Given the description of an element on the screen output the (x, y) to click on. 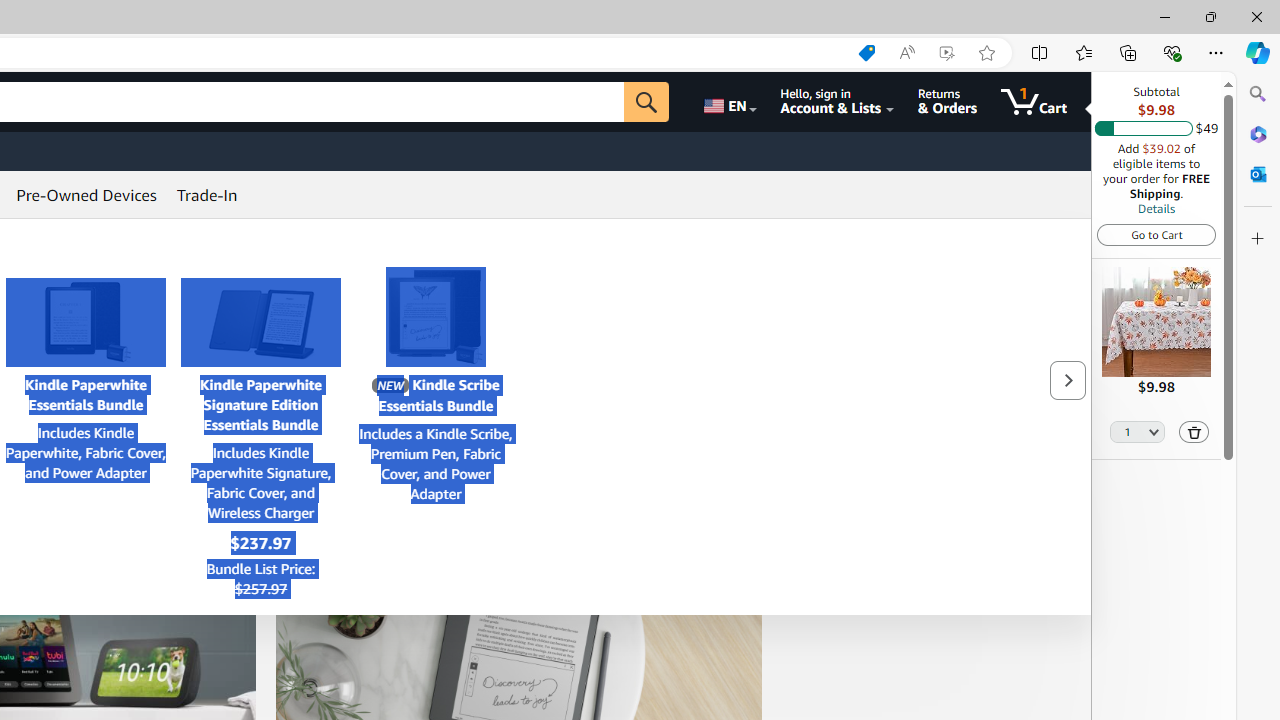
Quantity Selector (1137, 430)
Delete (1194, 431)
Go (646, 101)
